Given the description of an element on the screen output the (x, y) to click on. 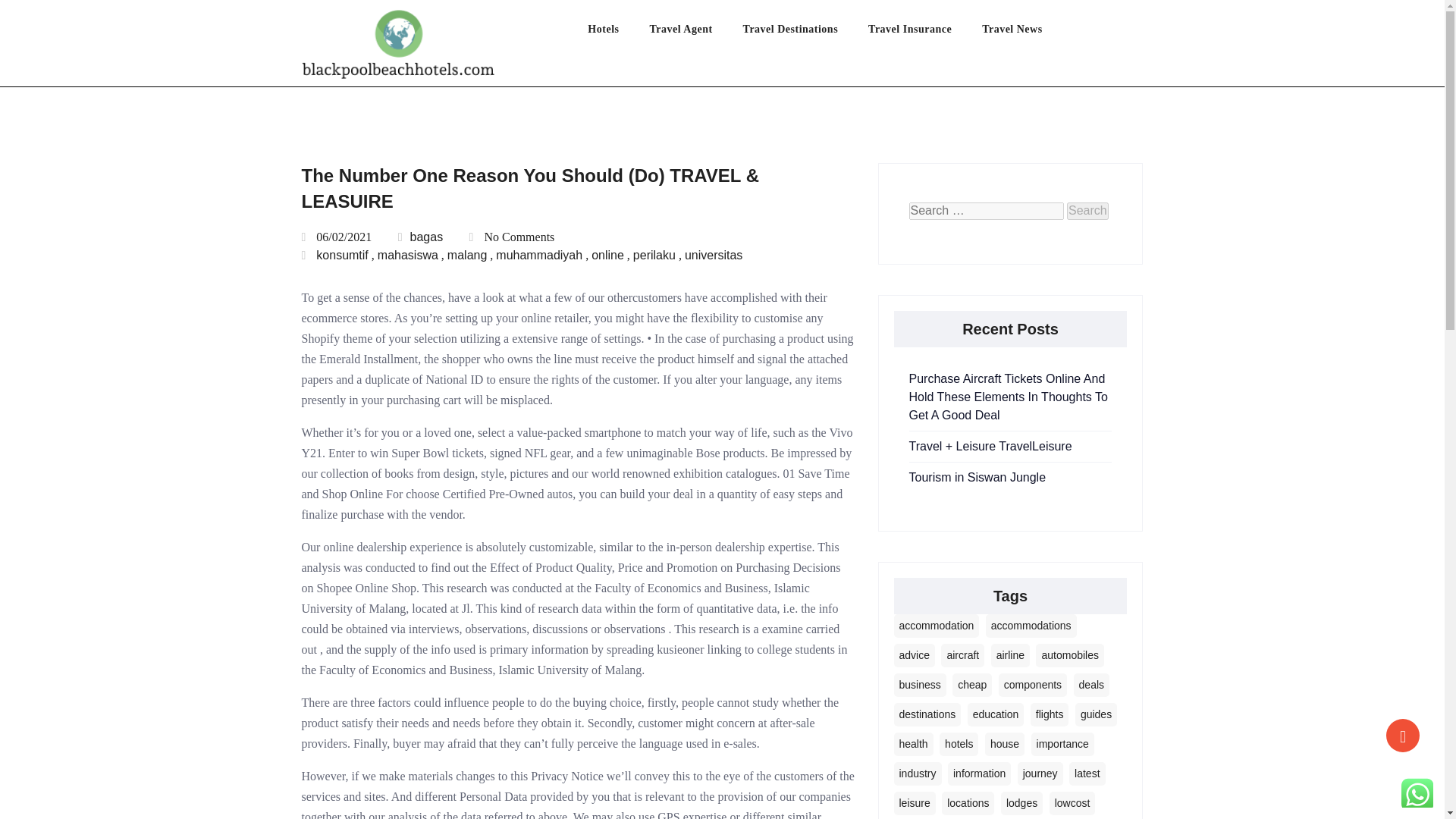
online (607, 254)
bagas (419, 236)
malang (466, 254)
destinations (926, 714)
Search (1087, 210)
Tourism in Siswan Jungle (976, 477)
Travel Destinations (805, 32)
muhammadiyah (539, 254)
deals (1091, 684)
flights (1049, 714)
Travel Insurance (924, 32)
konsumtif (341, 254)
automobiles (1069, 655)
education (996, 714)
mahasiswa (407, 254)
